Given the description of an element on the screen output the (x, y) to click on. 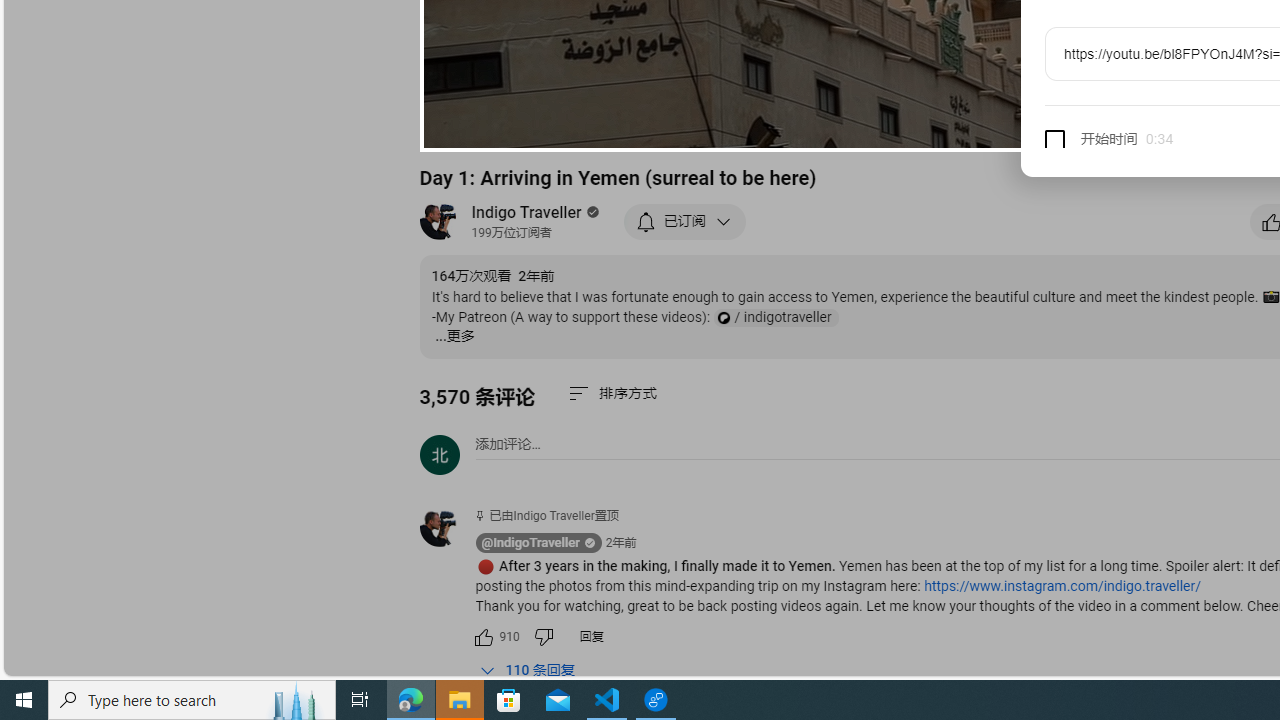
Indigo Traveller (527, 211)
Class: style-scope tp-yt-paper-input (1170, 139)
